Given the description of an element on the screen output the (x, y) to click on. 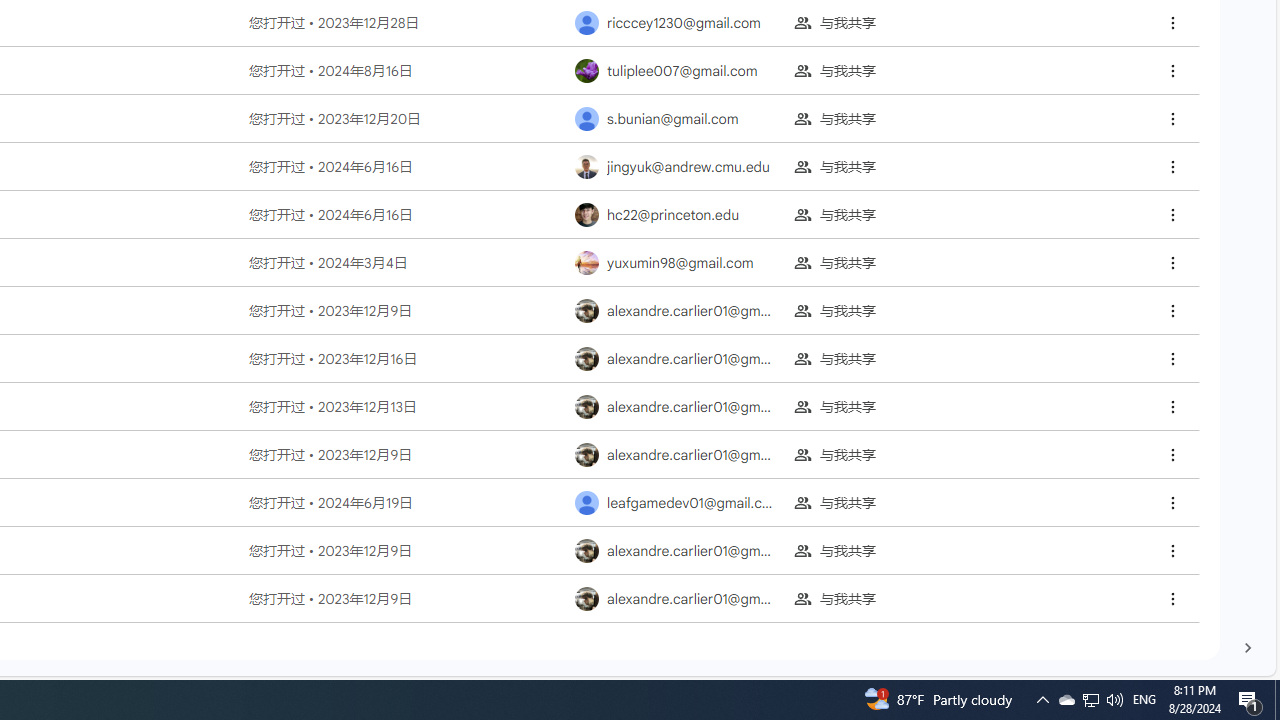
Class:  c-qd a-s-fa-Ha-pa BMAFpd (1172, 598)
AutomationID: Layer_1 (1247, 647)
